Given the description of an element on the screen output the (x, y) to click on. 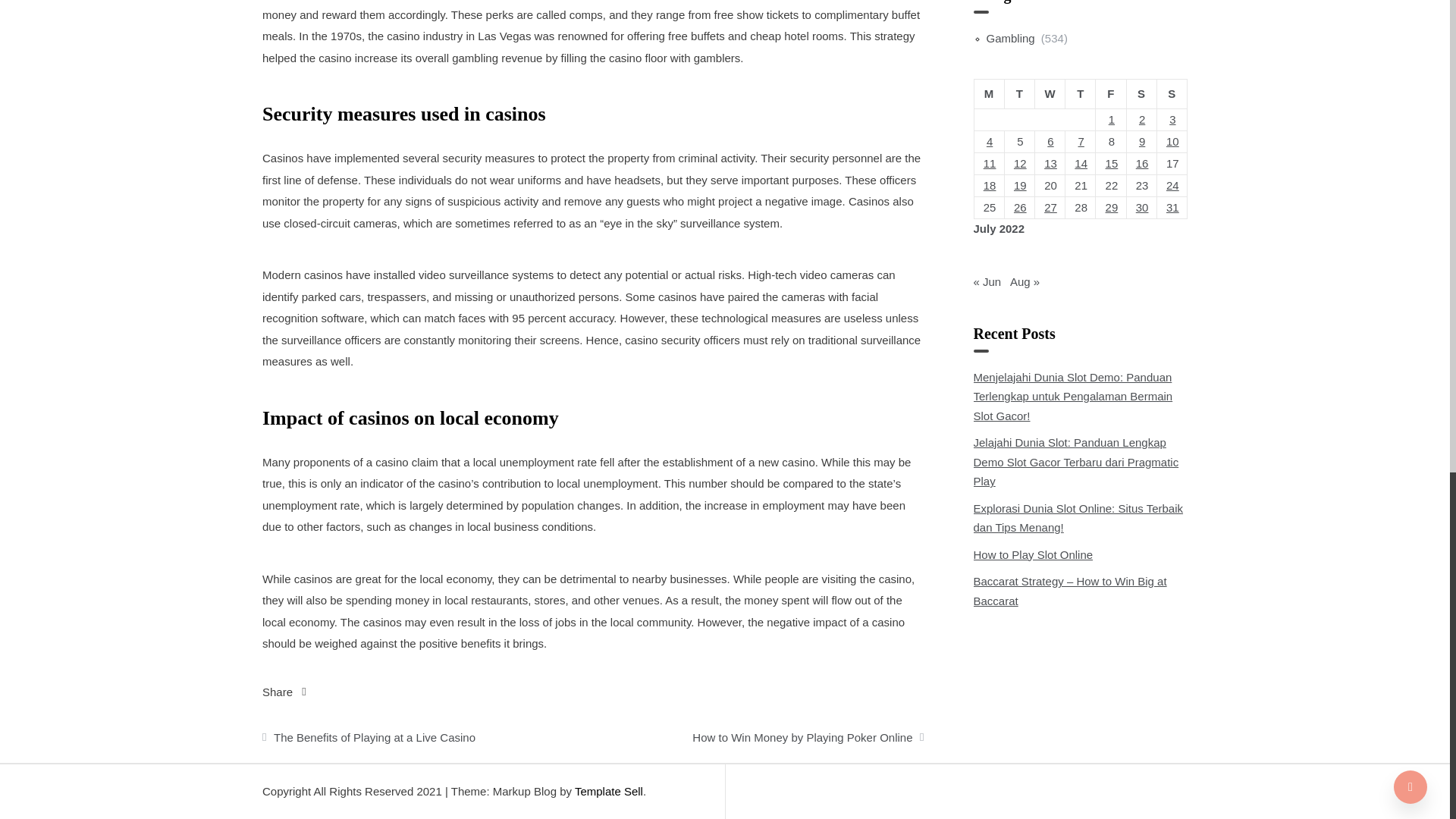
Monday (989, 93)
Wednesday (1048, 93)
The Benefits of Playing at a Live Casino (426, 733)
Sunday (1171, 93)
Friday (1110, 93)
How to Win Money by Playing Poker Online (758, 733)
Tuesday (1018, 93)
Thursday (1080, 93)
Saturday (1140, 93)
